Given the description of an element on the screen output the (x, y) to click on. 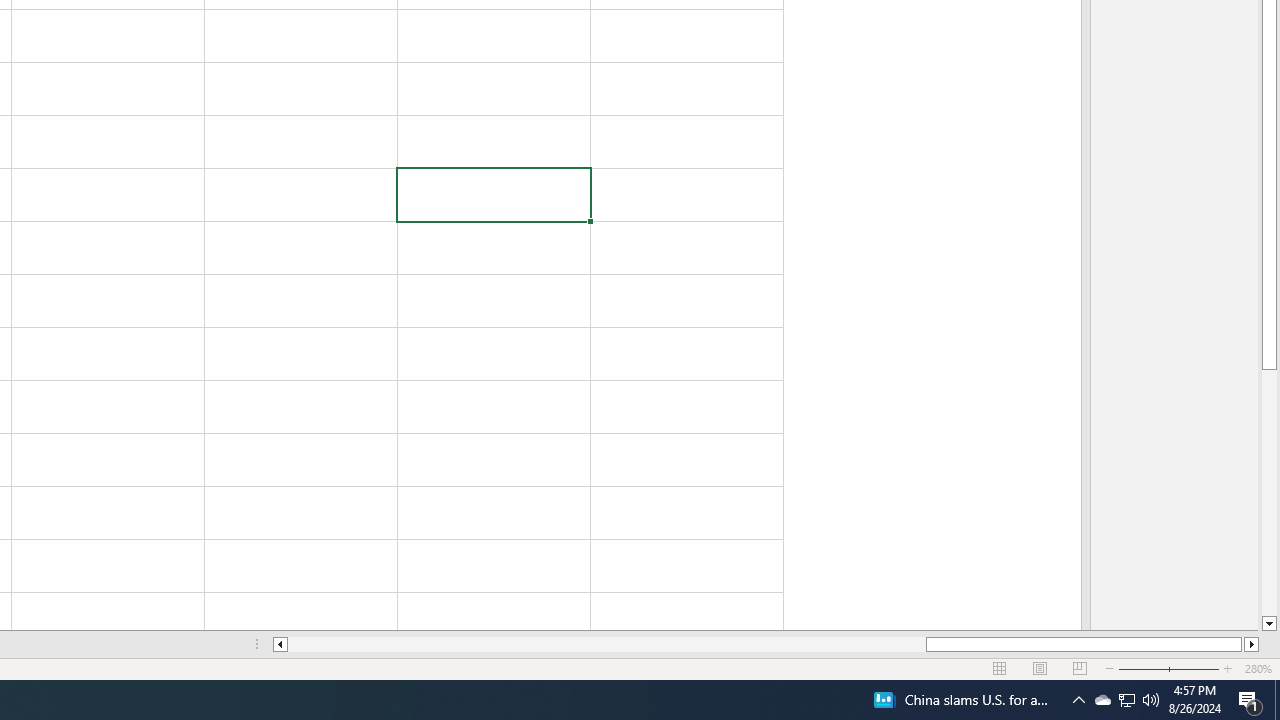
Page left (606, 644)
